Given the description of an element on the screen output the (x, y) to click on. 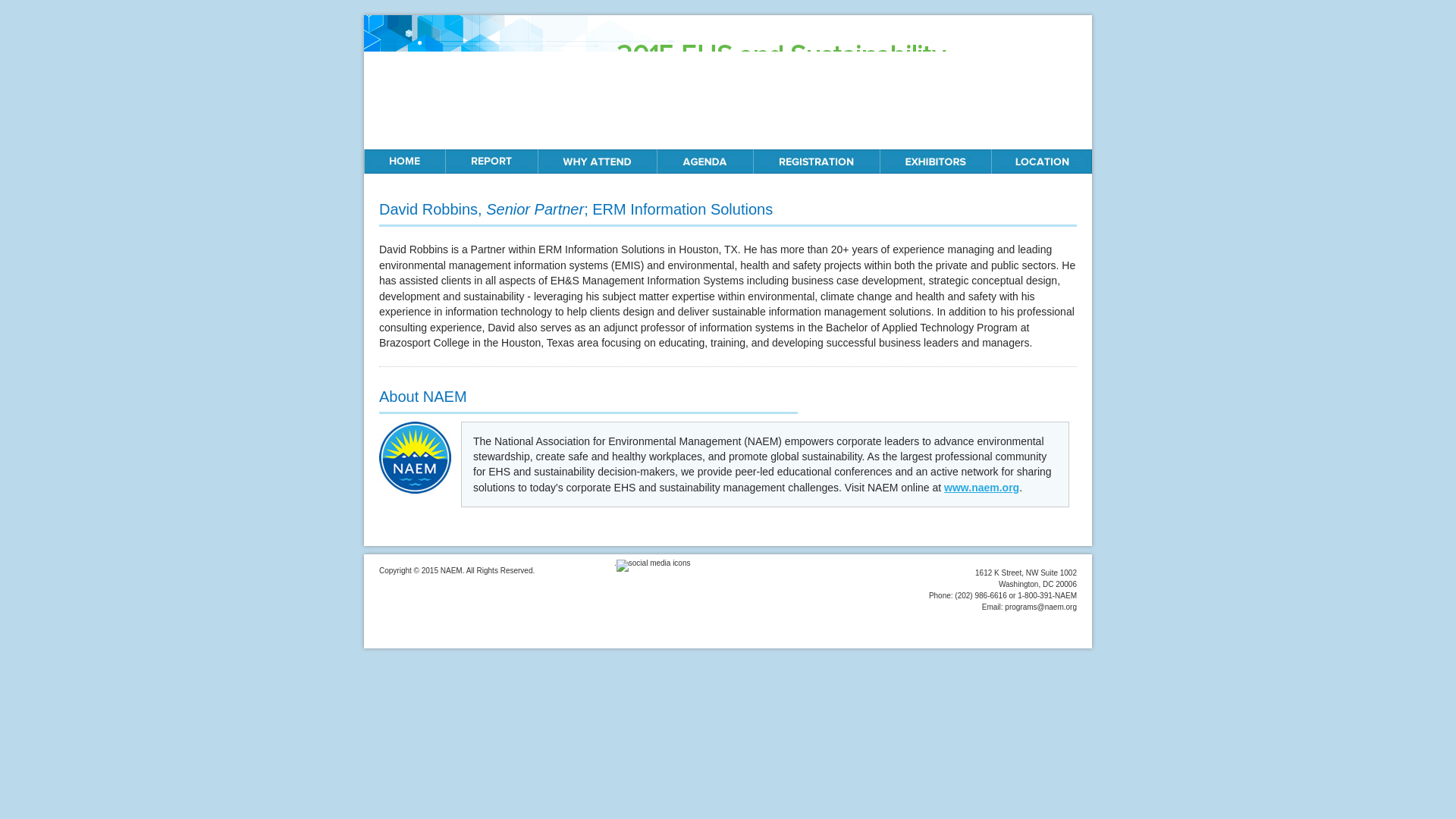
Home (728, 81)
www.naem.org (981, 487)
NAEM (414, 457)
Home (404, 161)
Agenda (704, 161)
Sponsors (935, 161)
2015 EHS and Sustainability Software conference  (728, 81)
Why Attend (596, 161)
Registration (815, 161)
Survey (491, 161)
